Given the description of an element on the screen output the (x, y) to click on. 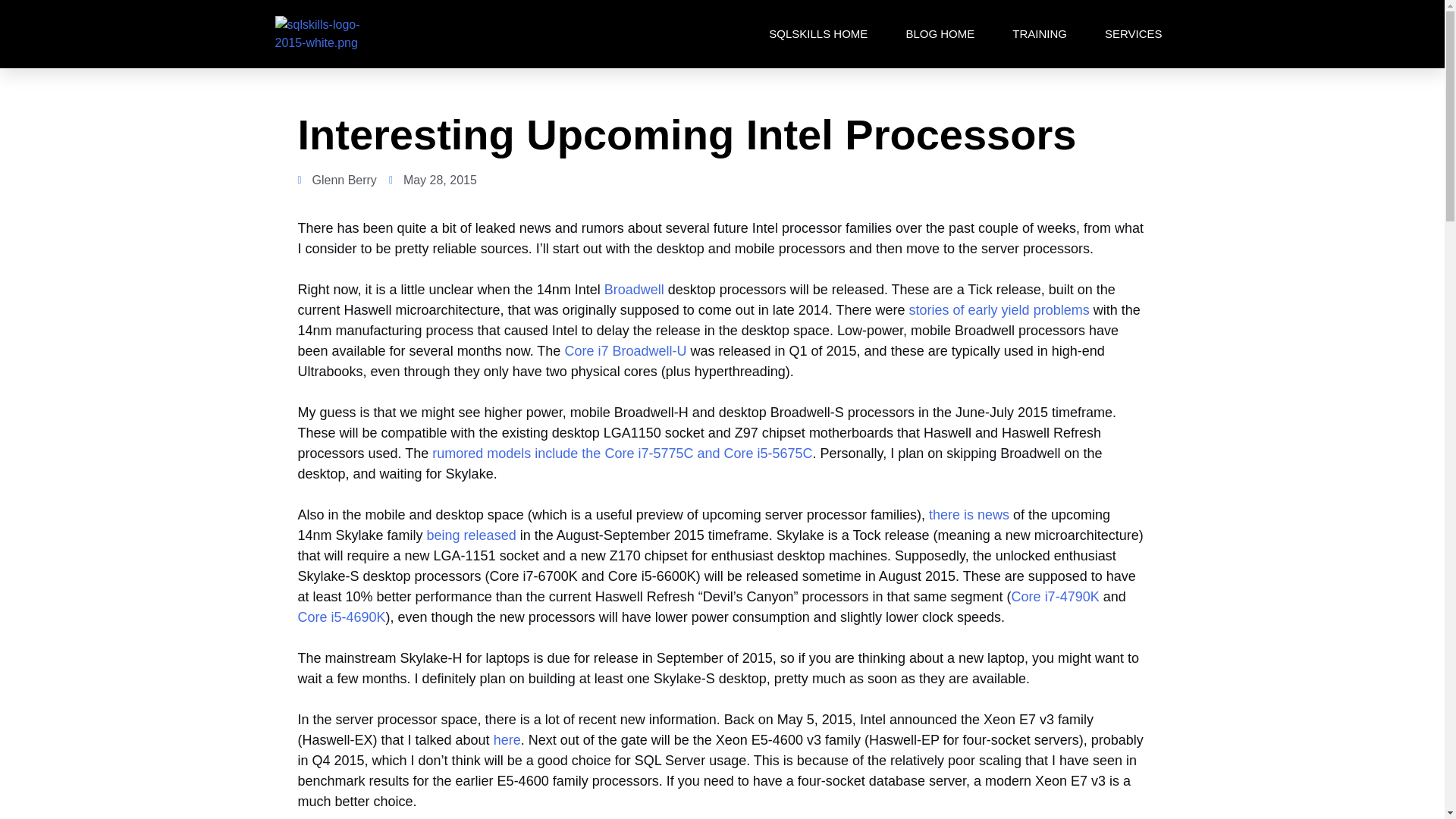
stories of early yield problems (998, 309)
Core i7-4790K (1055, 596)
here (507, 739)
Broadwell (633, 289)
BLOG HOME (939, 33)
being released (471, 534)
Core i5-4690K (341, 616)
SQLSKILLS HOME (817, 33)
sqlskills-logo-2015-white.png (331, 33)
May 28, 2015 (432, 180)
there is news (968, 514)
Glenn Berry (336, 180)
Core i7 Broadwell-U (624, 350)
rumored models include the Core i7-5775C and Core i5-5675C (622, 453)
